Given the description of an element on the screen output the (x, y) to click on. 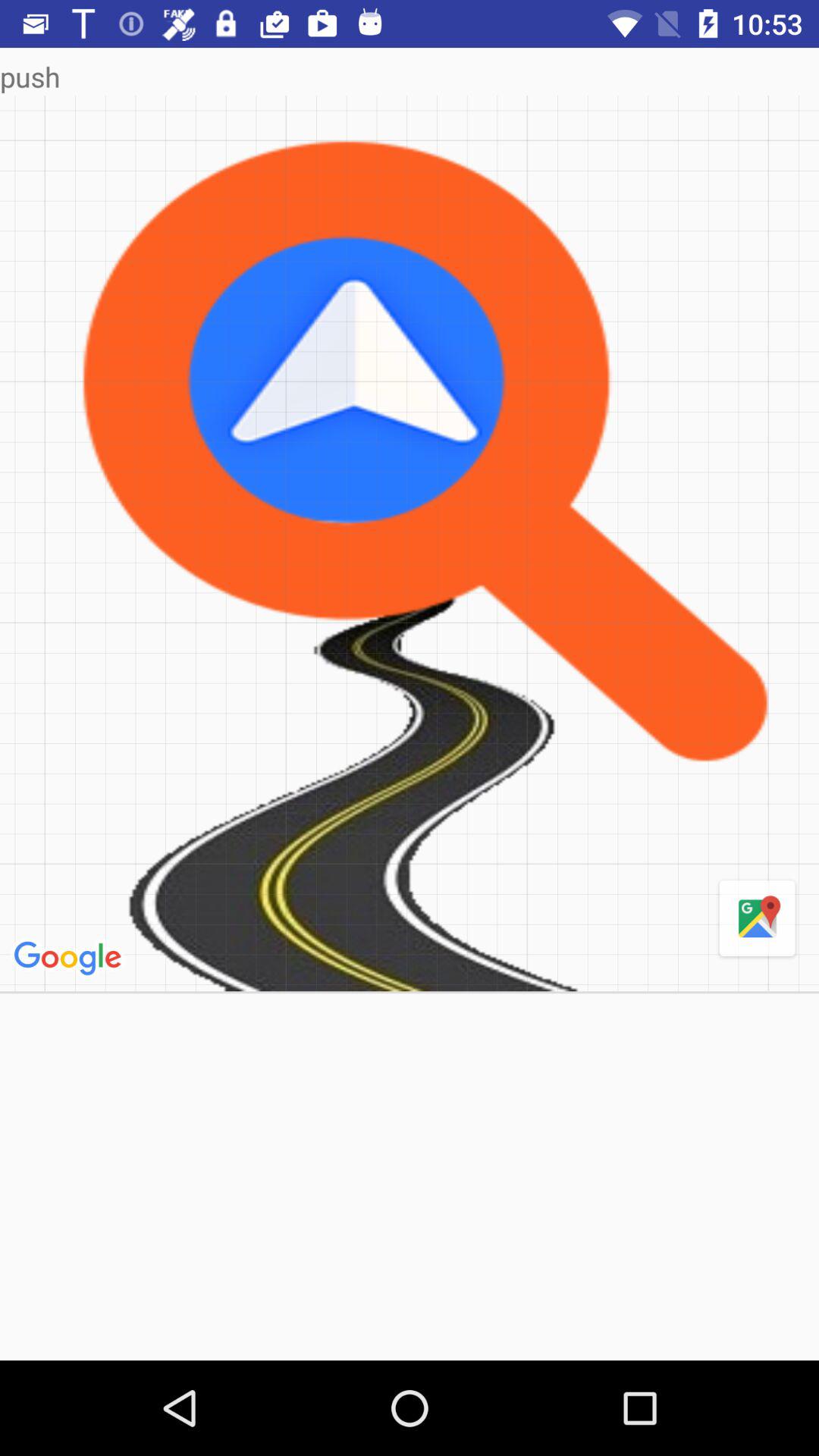
launch the icon at the center (409, 543)
